Given the description of an element on the screen output the (x, y) to click on. 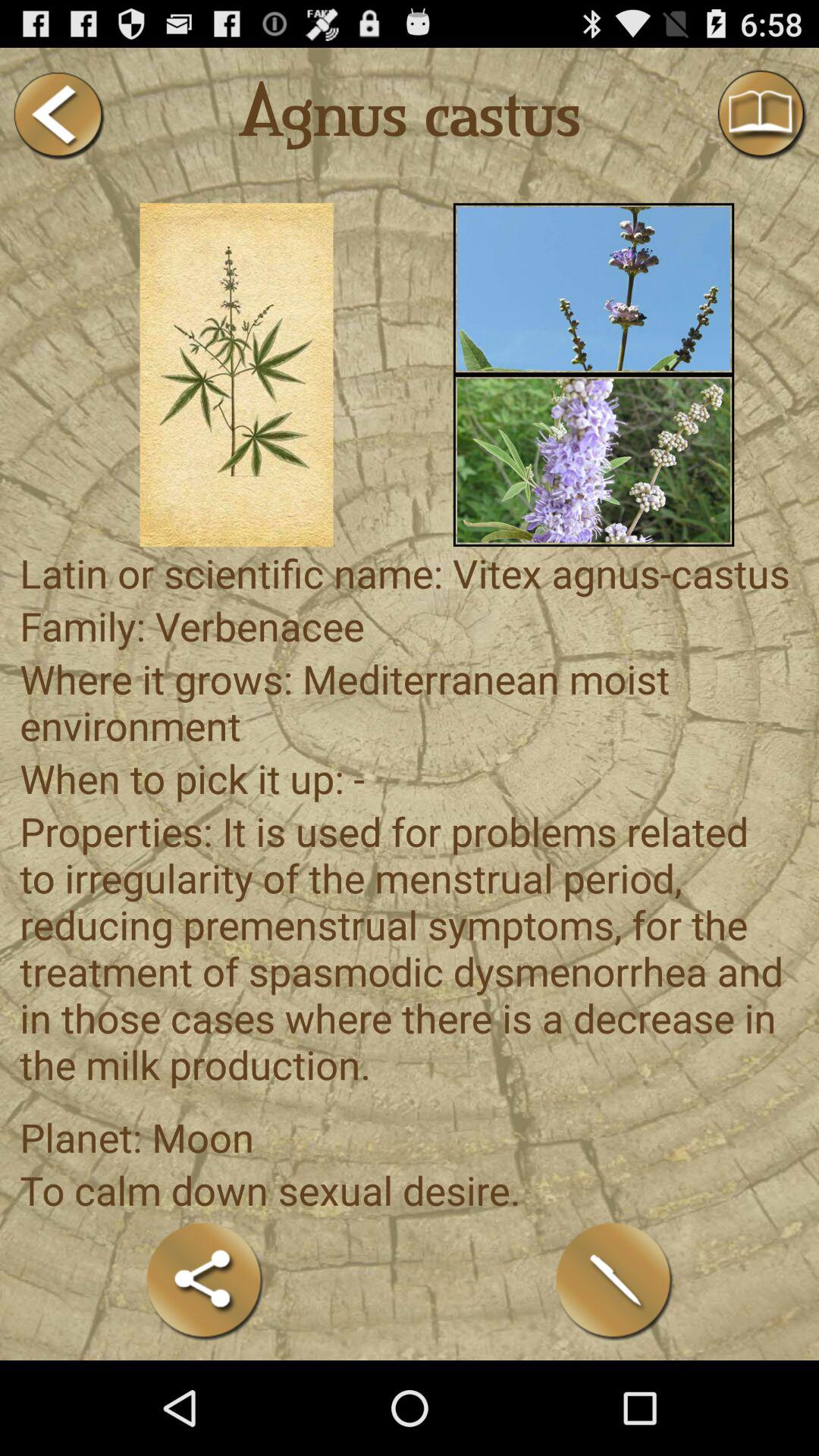
click right lower plant picture (593, 460)
